Given the description of an element on the screen output the (x, y) to click on. 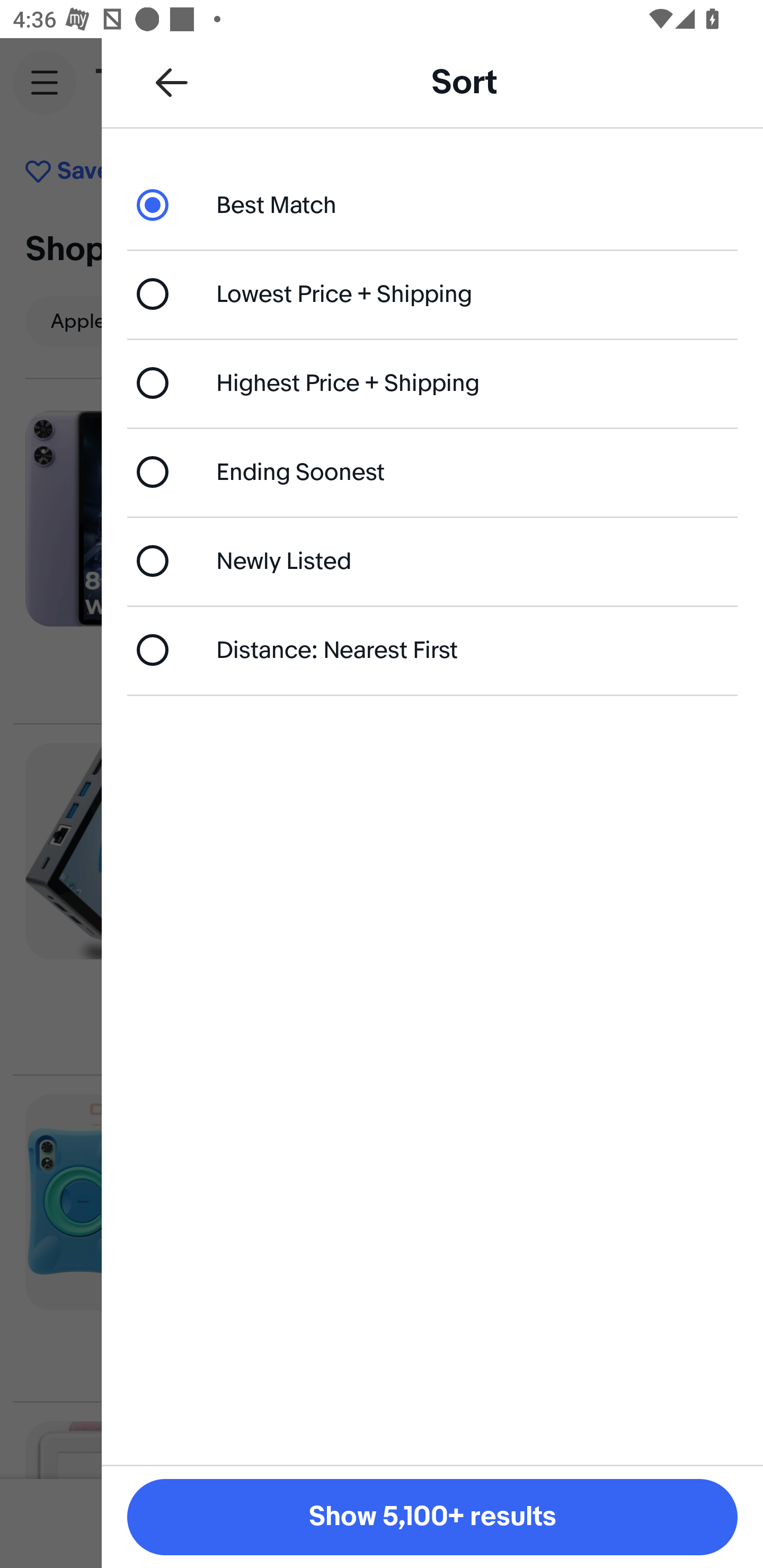
Back to all refinements (171, 81)
Best Match - currently selected Best Match (432, 204)
Lowest Price + Shipping (432, 293)
Highest Price + Shipping (432, 383)
Ending Soonest (432, 471)
Newly Listed (432, 560)
Distance: Nearest First (432, 649)
Show 5,100+ results (432, 1516)
